Given the description of an element on the screen output the (x, y) to click on. 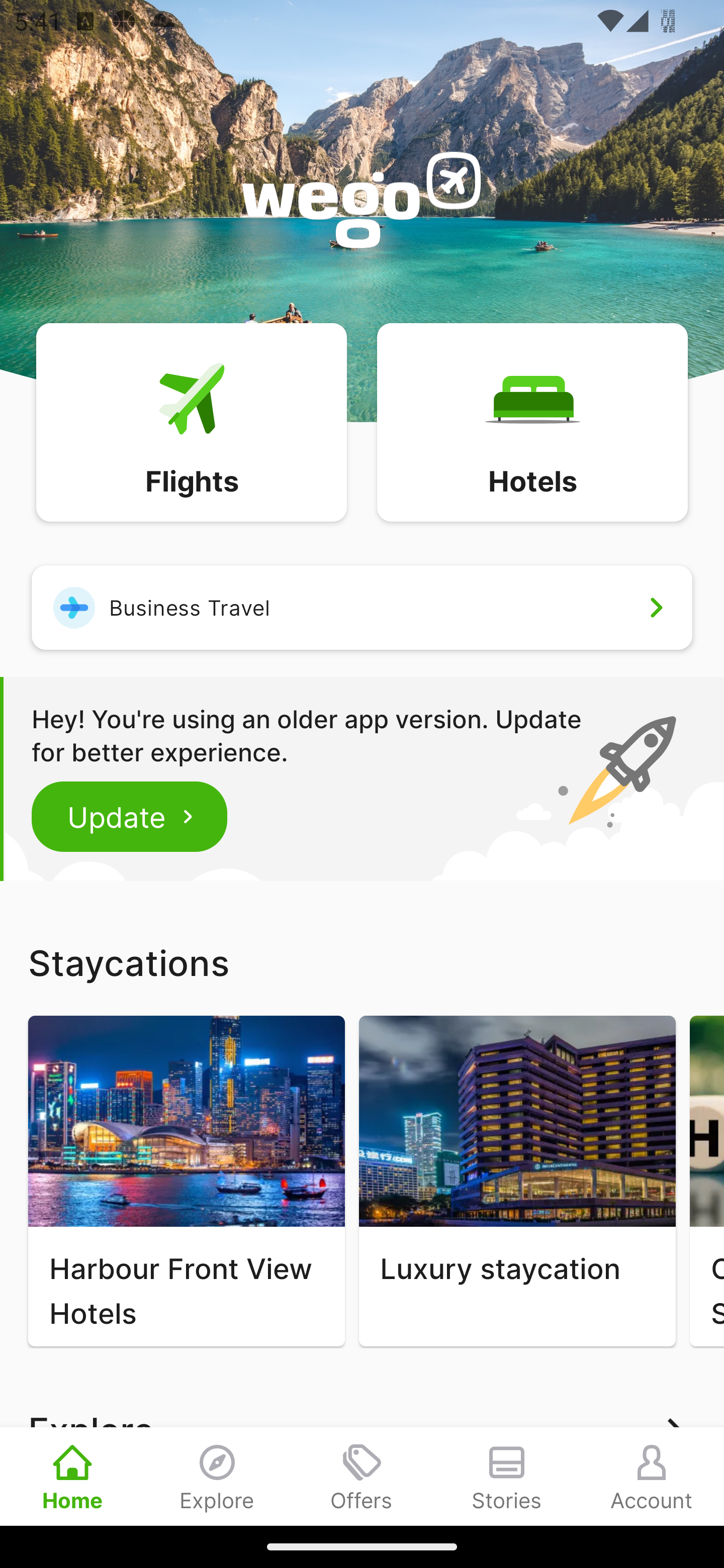
Flights (191, 420)
Hotels (532, 420)
Business Travel (361, 607)
Update (129, 815)
Staycations (362, 962)
Harbour Front View Hotels (186, 1181)
Luxury staycation (517, 1181)
Explore (216, 1475)
Offers (361, 1475)
Stories (506, 1475)
Account (651, 1475)
